Given the description of an element on the screen output the (x, y) to click on. 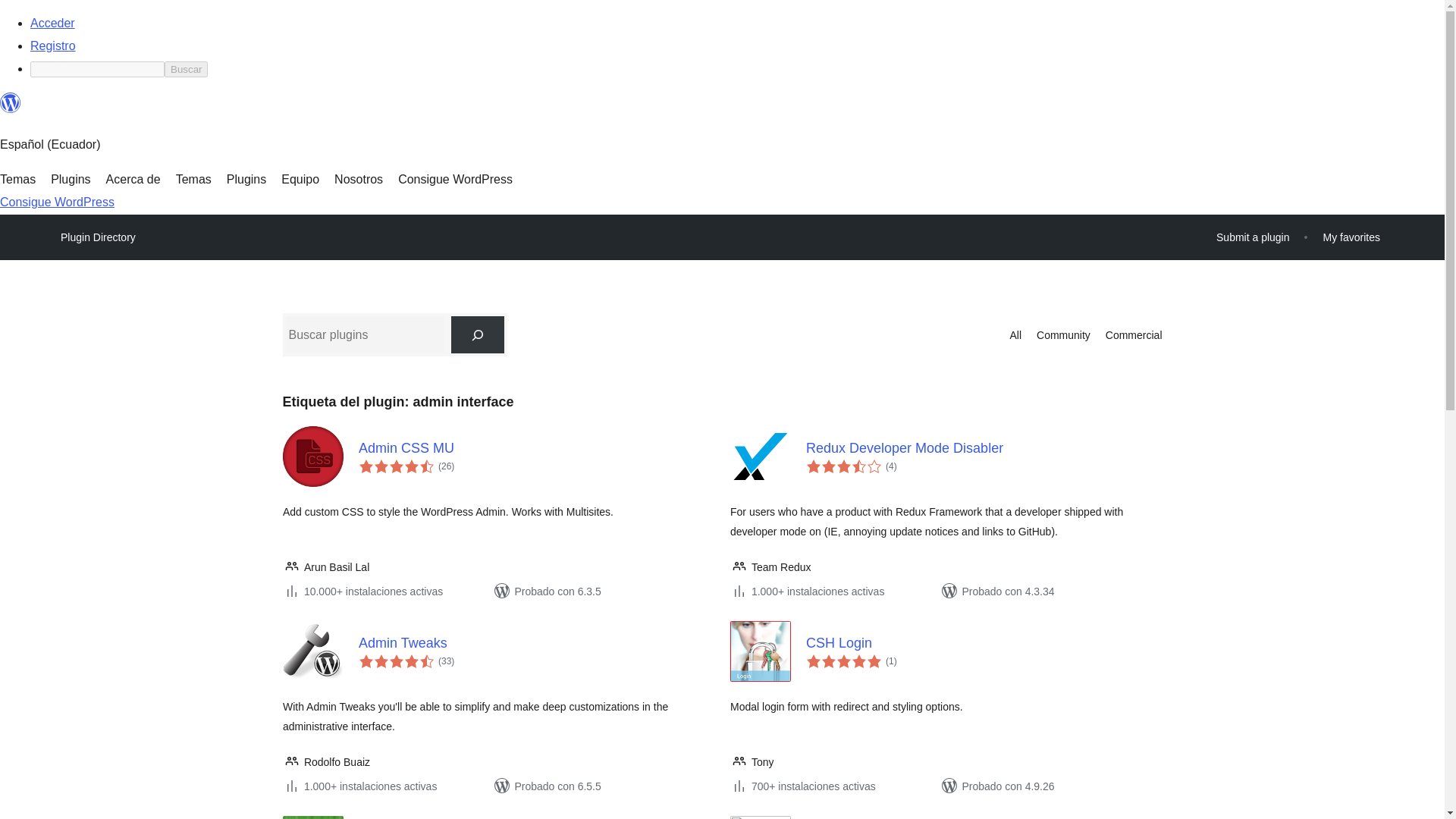
Temas (17, 179)
My favorites (1351, 236)
Redux Developer Mode Disabler (983, 448)
Admin CSS MU (536, 448)
Plugins (70, 179)
Consigue WordPress (57, 201)
Plugin Directory (97, 237)
WordPress.org (10, 102)
Temas (193, 179)
WordPress.org (10, 109)
Registro (52, 45)
Plugins (246, 179)
Buscar (186, 68)
Consigue WordPress (454, 179)
Acceder (52, 22)
